Given the description of an element on the screen output the (x, y) to click on. 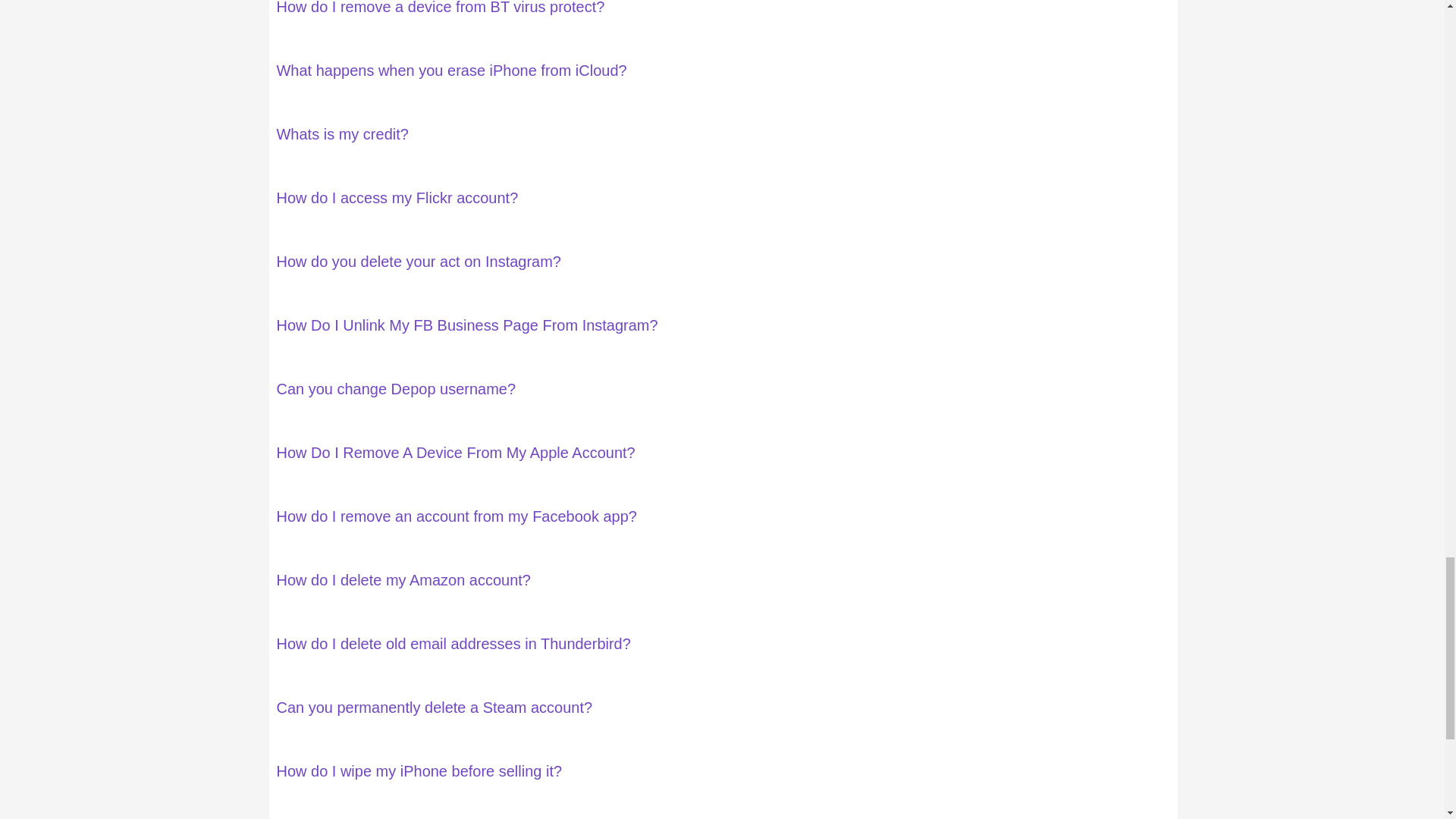
How do I delete my Amazon account? (402, 579)
How do I remove a device from BT virus protect? (440, 7)
How do you delete your act on Instagram? (418, 261)
How do I remove an account from my Facebook app? (456, 515)
How do I delete old email addresses in Thunderbird? (453, 643)
Whats is my credit? (341, 134)
How do I access my Flickr account? (397, 197)
How Do I Remove A Device From My Apple Account? (455, 452)
Can you permanently delete a Steam account? (434, 707)
How Do I Unlink My FB Business Page From Instagram? (467, 324)
How do I wipe my iPhone before selling it? (419, 770)
What happens when you erase iPhone from iCloud? (451, 70)
Can you change Depop username? (395, 388)
